Given the description of an element on the screen output the (x, y) to click on. 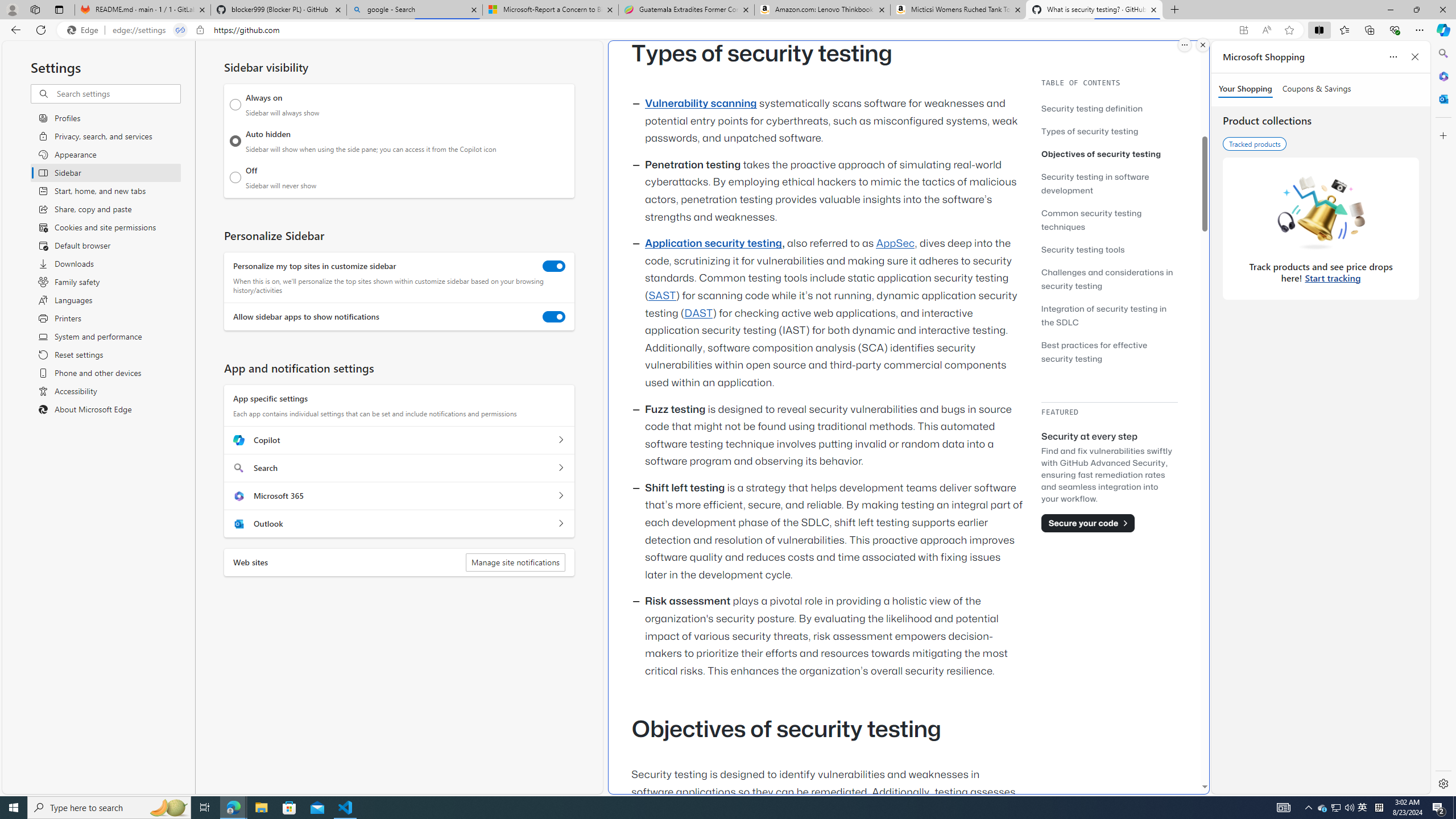
Objectives of security testing (1109, 153)
Search settings (117, 93)
Secure your code (1088, 522)
App available. Install GitHub (1243, 29)
Integration of security testing in the SDLC (1109, 315)
Tabs in split screen (180, 29)
